Given the description of an element on the screen output the (x, y) to click on. 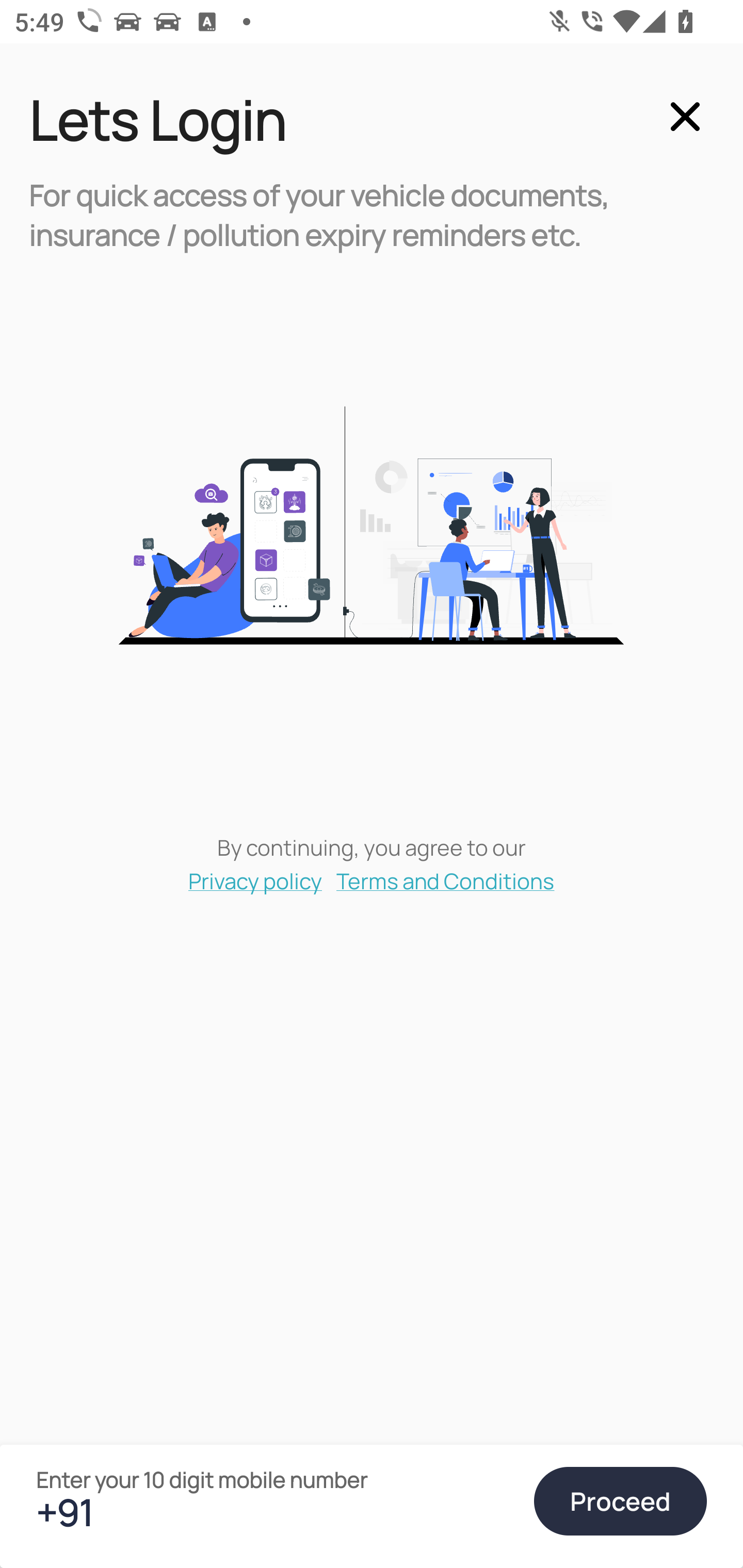
Privacy policy (254, 880)
Terms and Conditions (445, 880)
Proceed (620, 1501)
Enter your 10 digit mobile number (275, 1512)
